Given the description of an element on the screen output the (x, y) to click on. 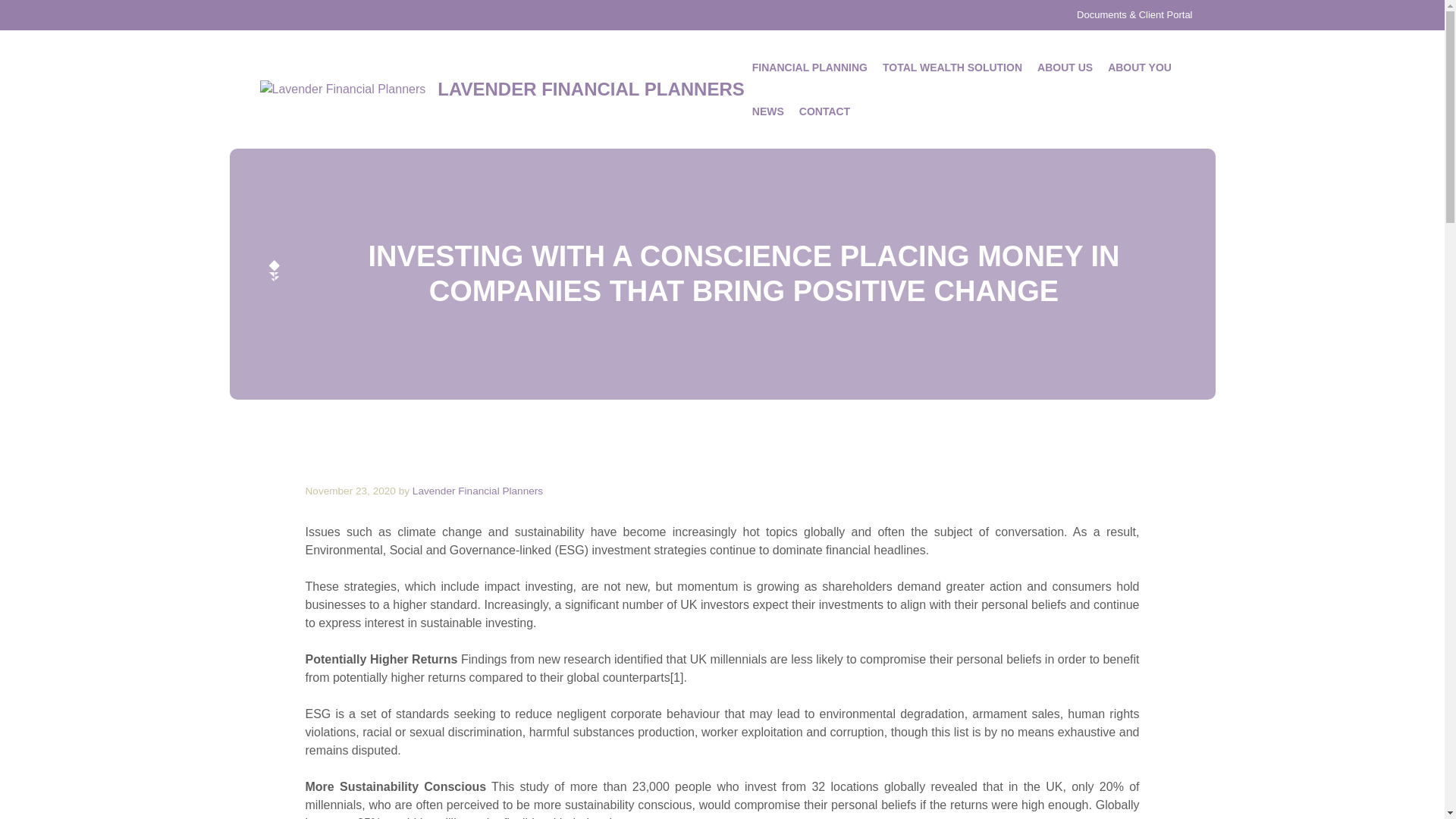
TOTAL WEALTH SOLUTION (952, 67)
FINANCIAL PLANNING (809, 67)
Lavender Financial Planners (342, 89)
Lavender Financial Planners (477, 490)
View all posts by Lavender Financial Planners (477, 490)
NEWS (768, 111)
ABOUT YOU (1139, 67)
CONTACT (824, 111)
Lavender Financial Planners (342, 88)
LAVENDER FINANCIAL PLANNERS (591, 88)
